Given the description of an element on the screen output the (x, y) to click on. 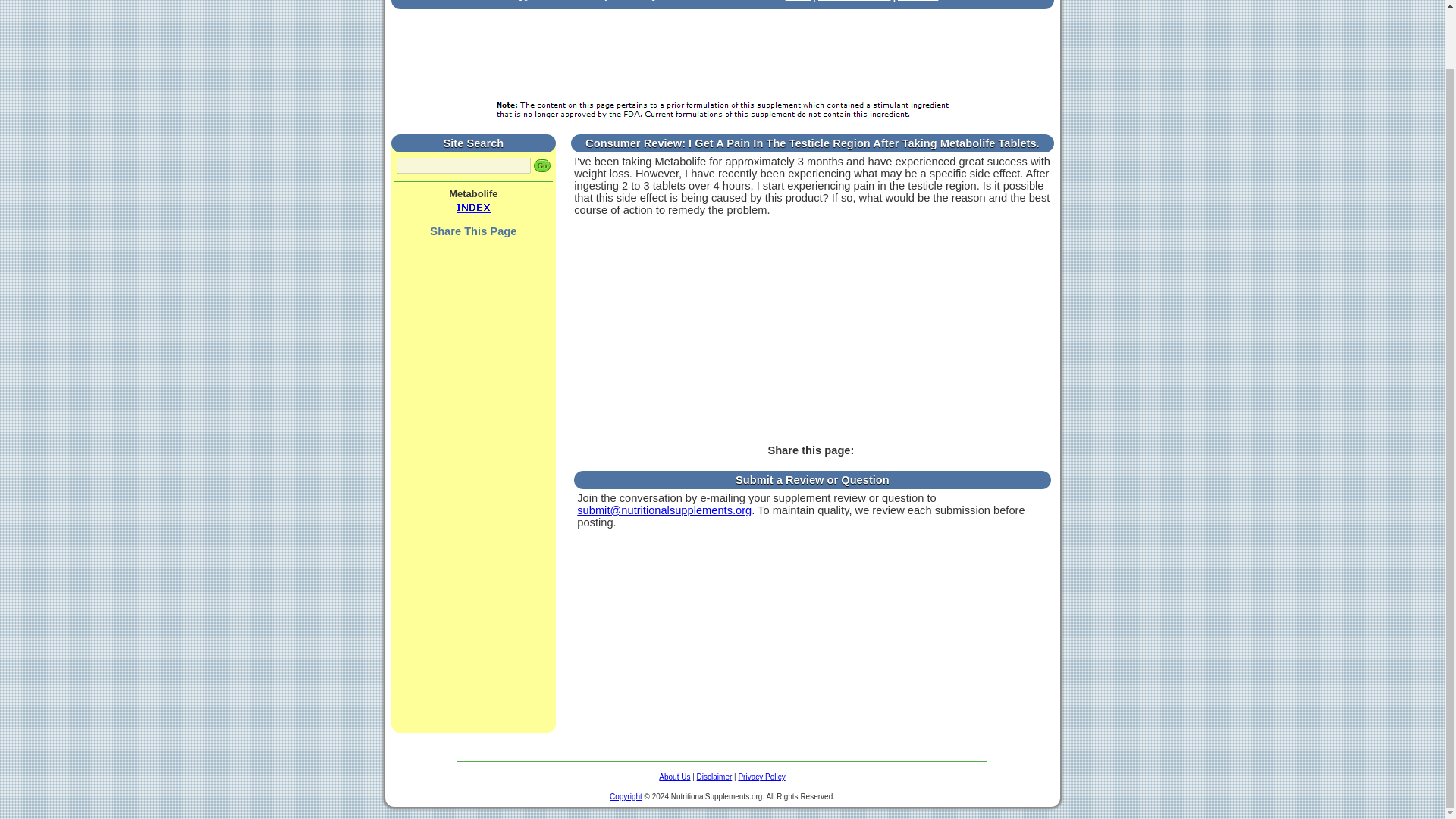
Submit a Review (853, 0)
About Us (917, 0)
Disclaimer (714, 777)
Advertisement (721, 55)
About Us (674, 777)
Privacy Policy (761, 777)
Go (542, 164)
Copyright (626, 795)
Go (542, 164)
Advertisement (812, 334)
